Given the description of an element on the screen output the (x, y) to click on. 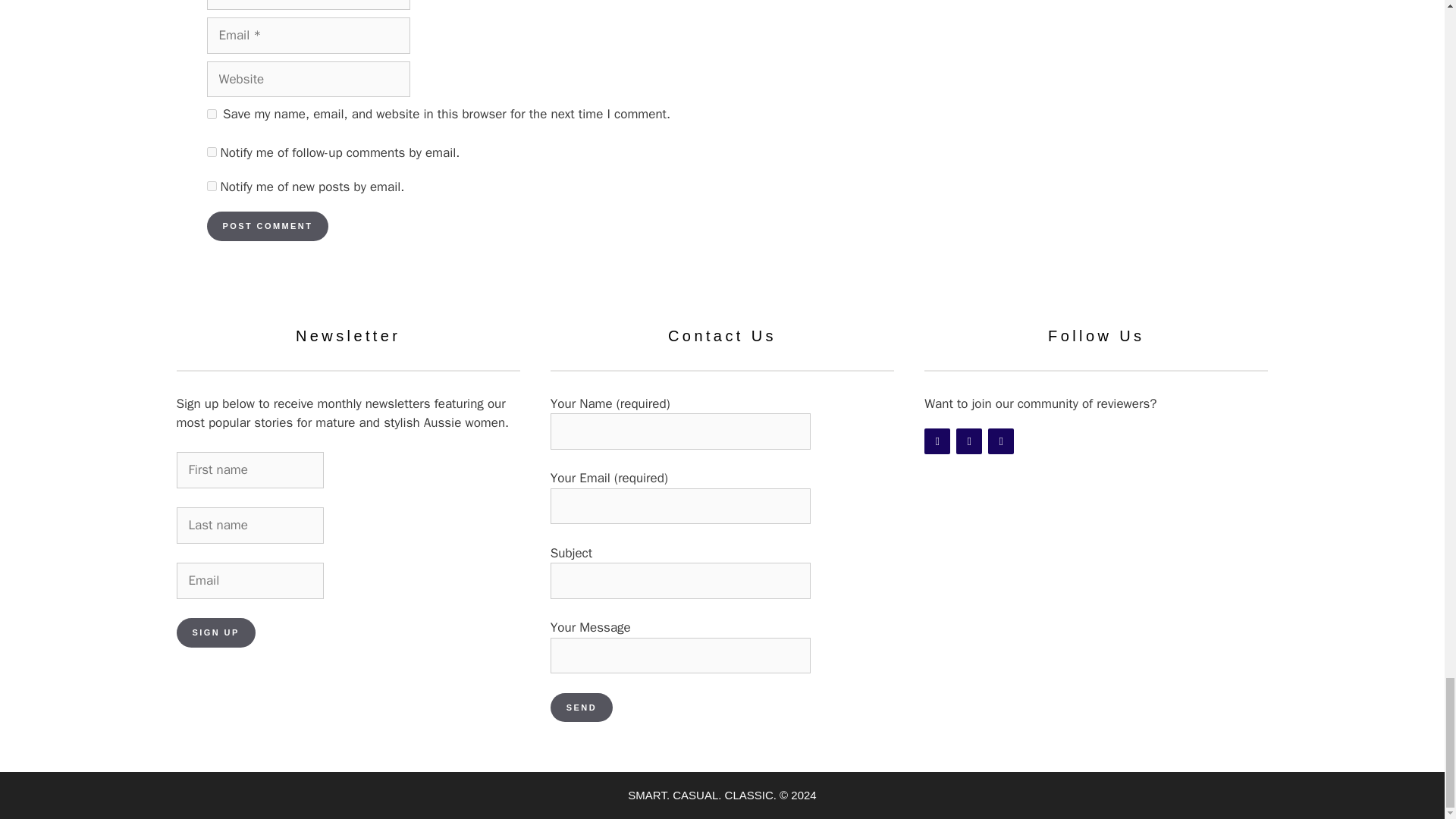
Pinterest (1000, 441)
subscribe (210, 152)
Sign up (215, 632)
Facebook (937, 441)
subscribe (210, 185)
Instagram (968, 441)
Post Comment (267, 225)
Post Comment (267, 225)
yes (210, 113)
